Given the description of an element on the screen output the (x, y) to click on. 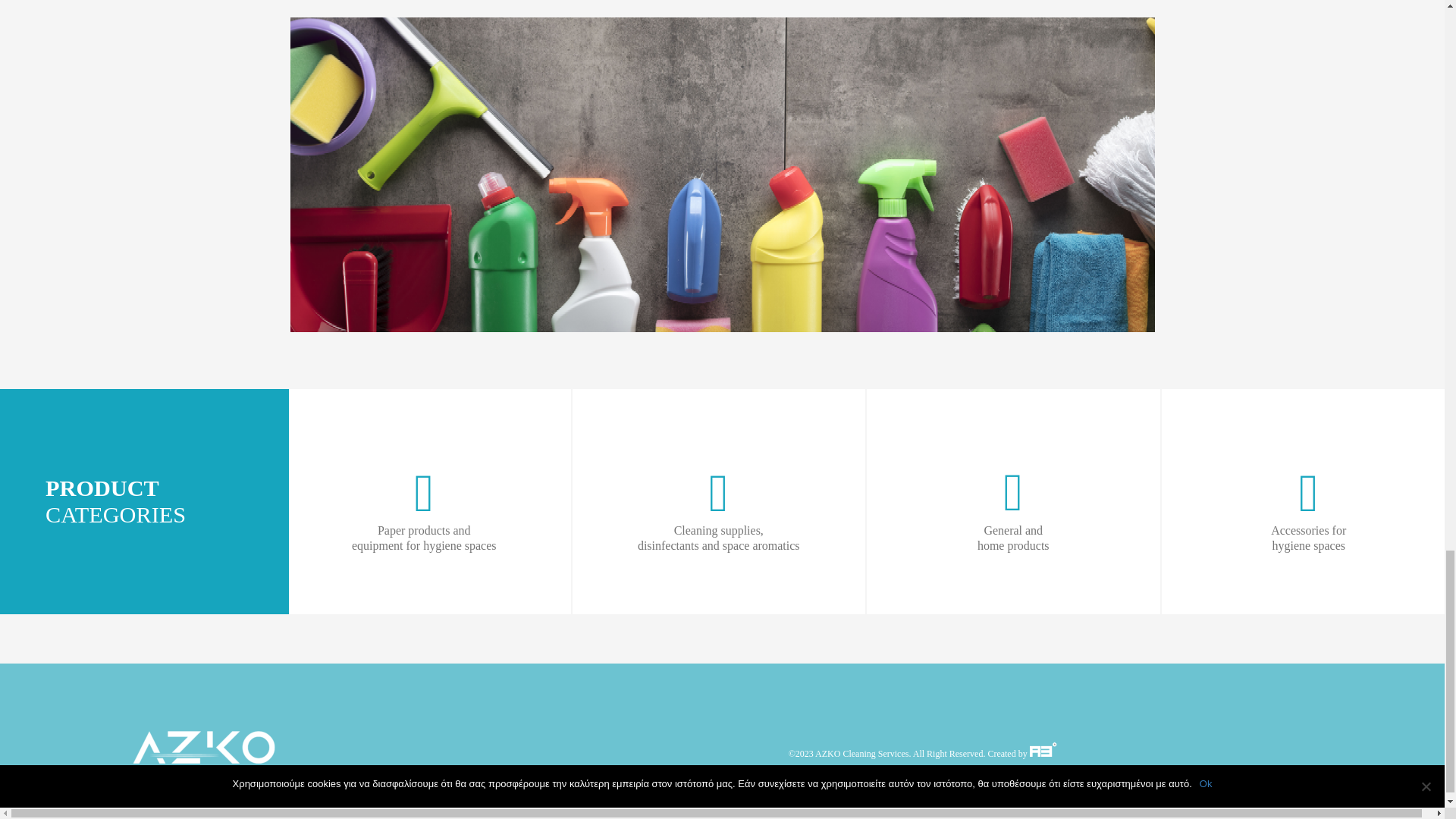
azko-Final-white-1 (204, 754)
